Given the description of an element on the screen output the (x, y) to click on. 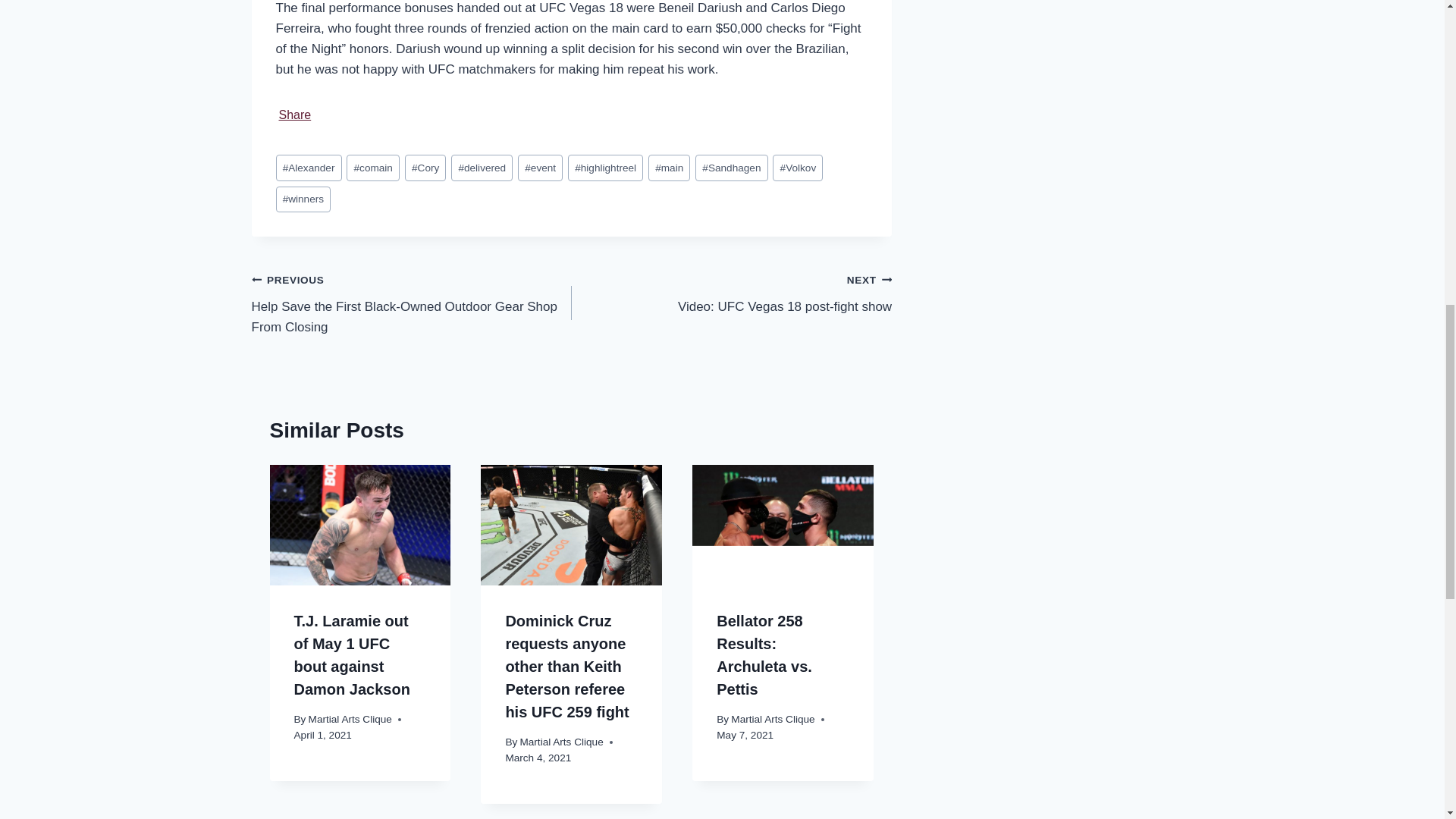
Share (295, 114)
